Given the description of an element on the screen output the (x, y) to click on. 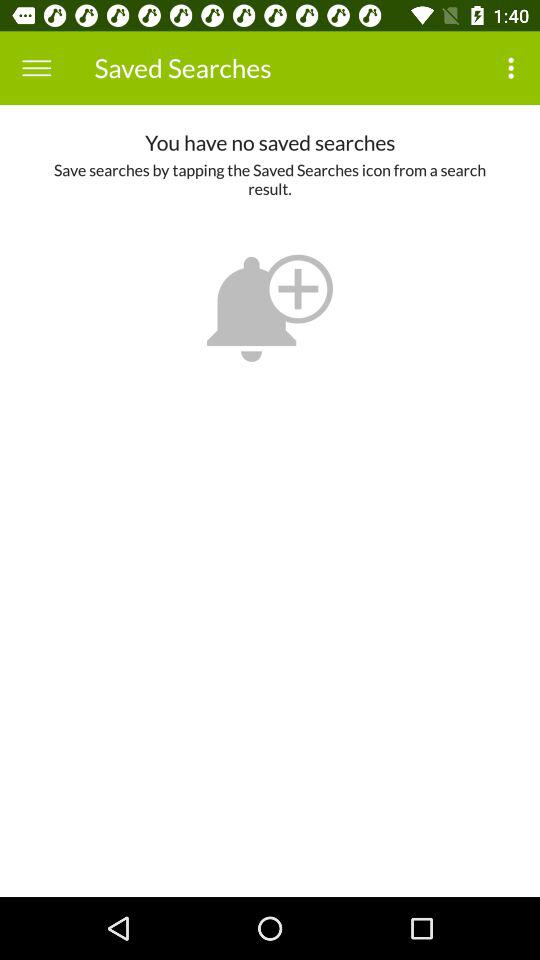
open the icon at the top left corner (36, 68)
